Given the description of an element on the screen output the (x, y) to click on. 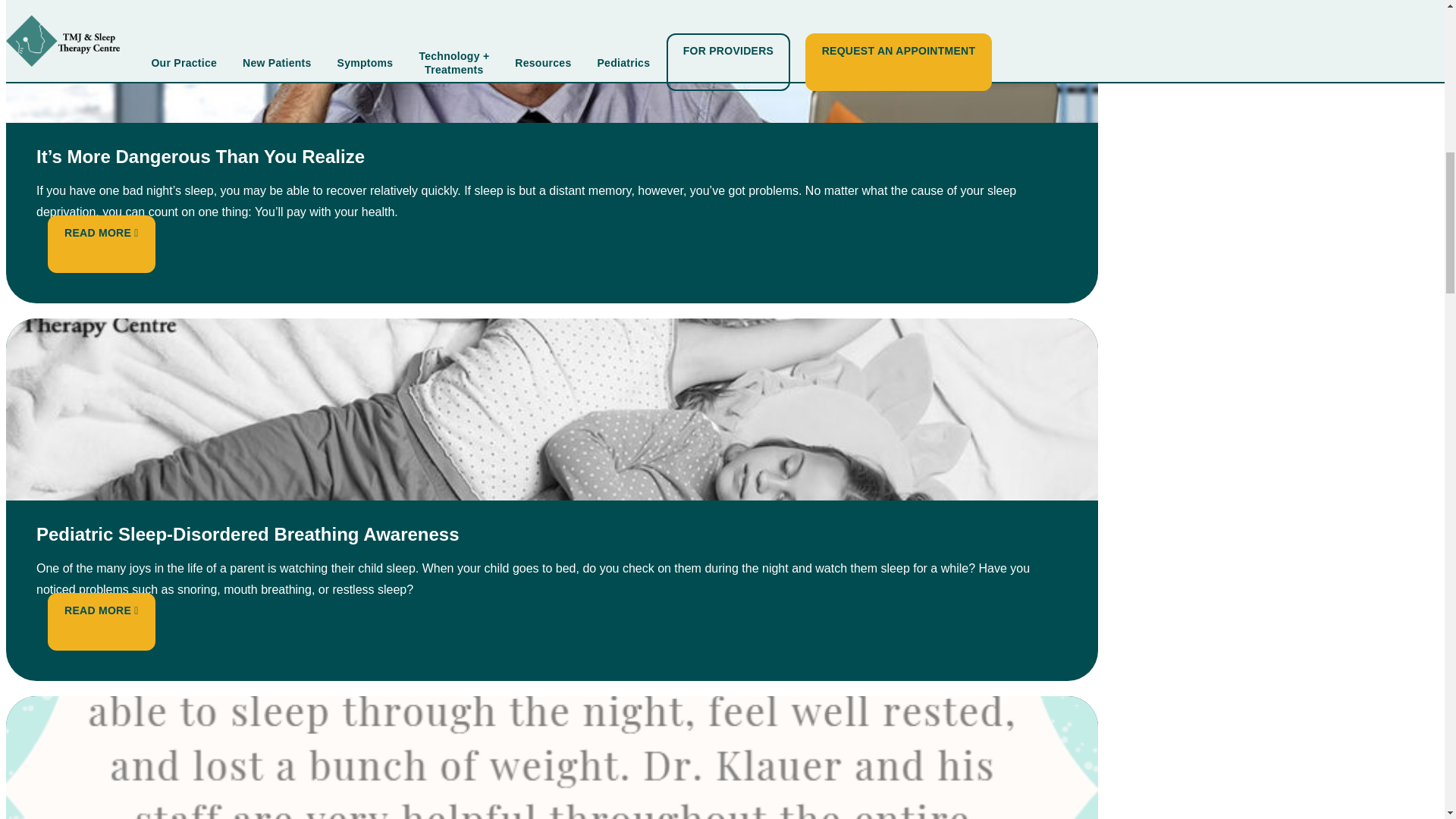
READ MORE (101, 610)
READ MORE (101, 232)
